Given the description of an element on the screen output the (x, y) to click on. 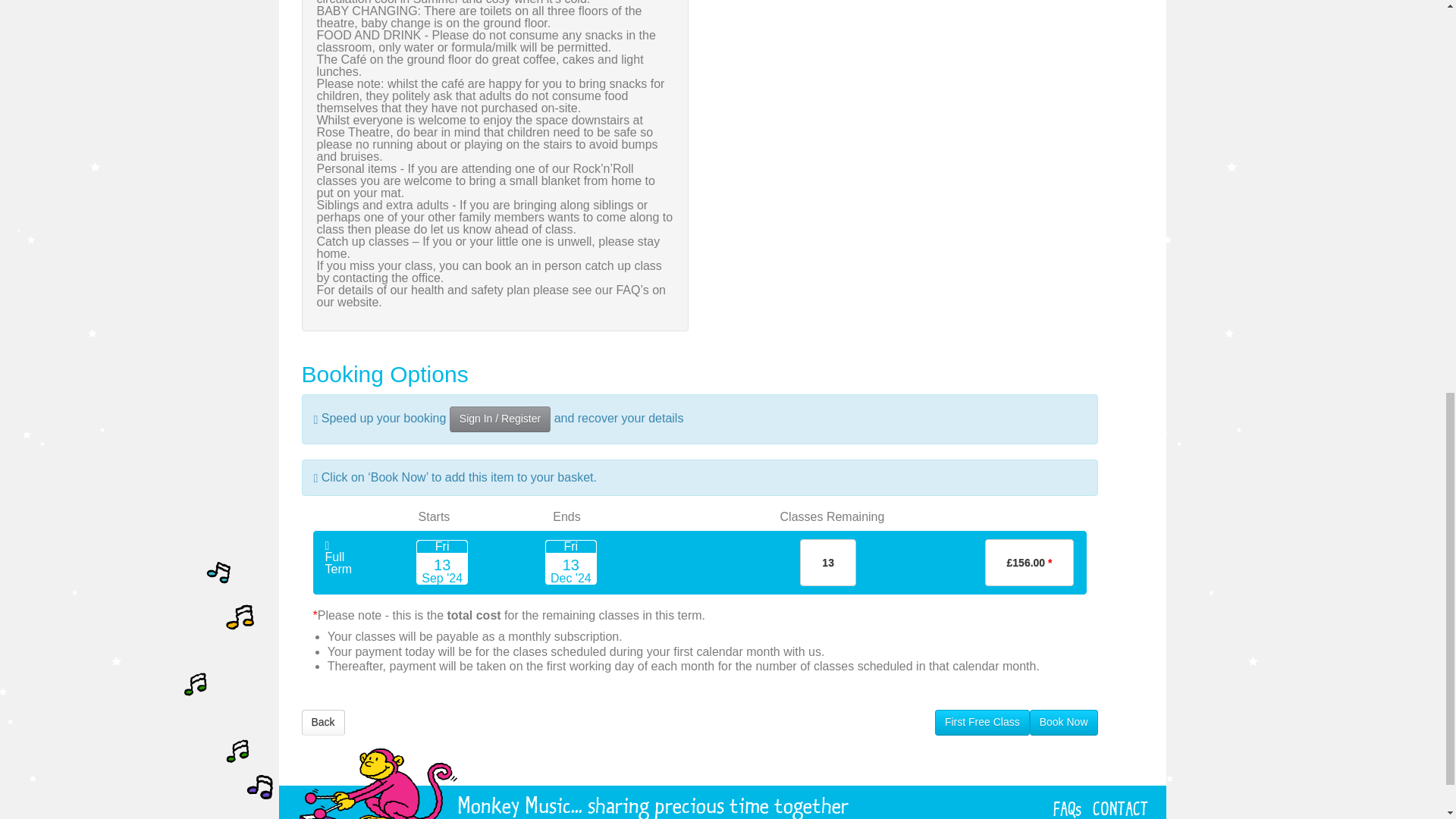
Back (323, 722)
First Free Class (981, 722)
Book Now (1063, 722)
Book Now (1063, 722)
First Free Class (981, 722)
